Given the description of an element on the screen output the (x, y) to click on. 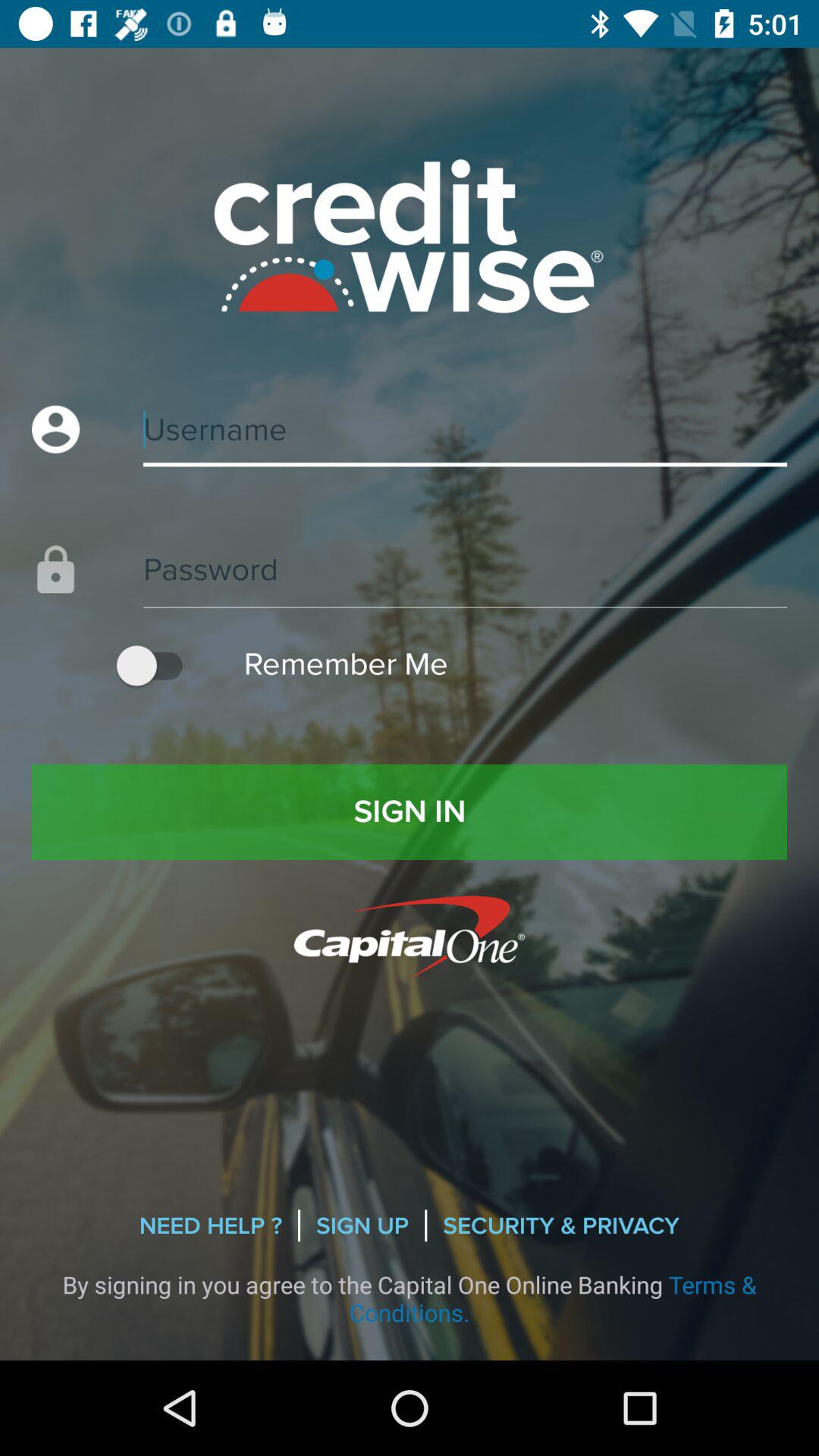
launch need help ? at the bottom left corner (210, 1225)
